Given the description of an element on the screen output the (x, y) to click on. 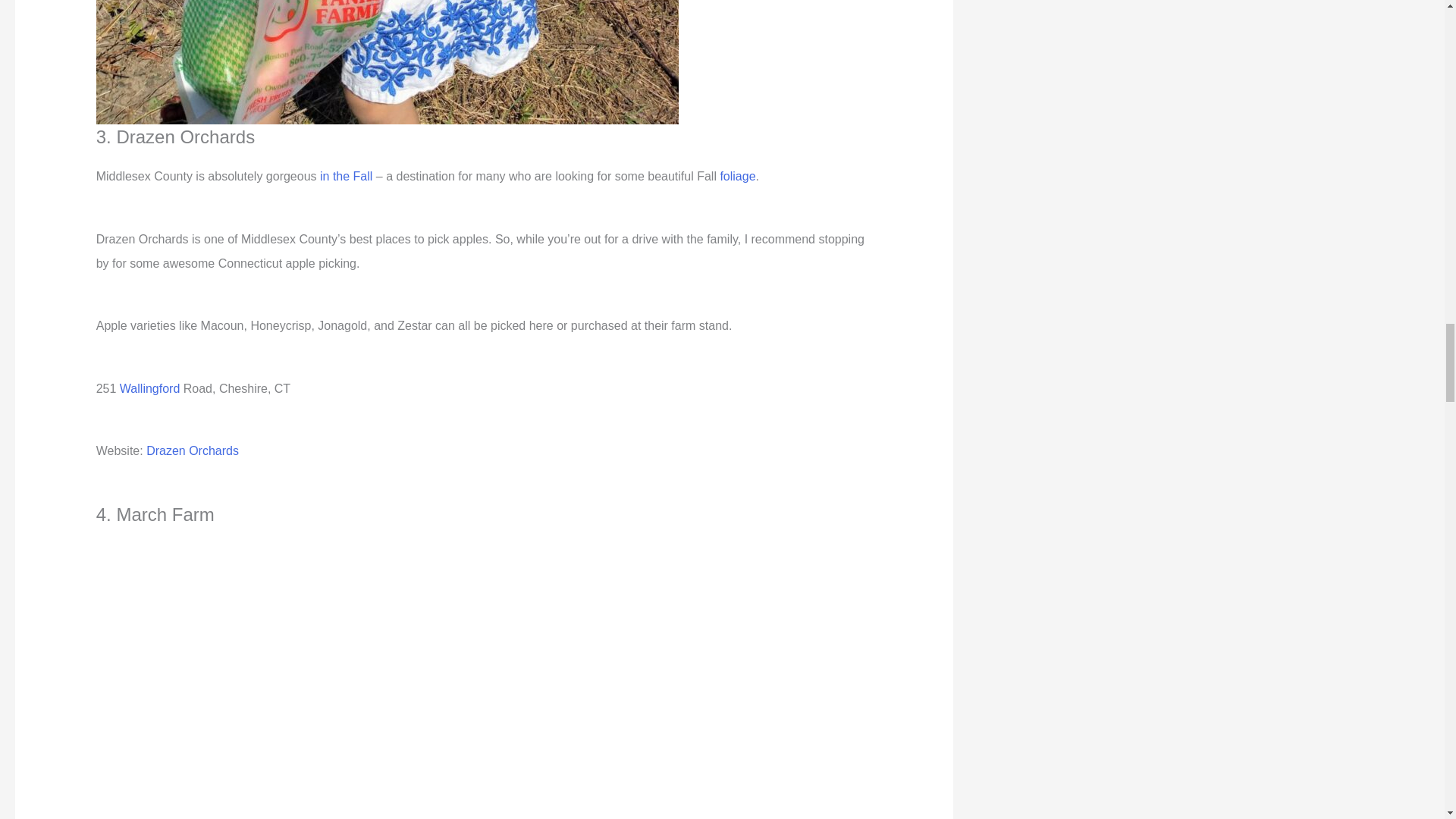
in the Fall (346, 175)
foliage (737, 175)
Wallingford (149, 388)
Drazen Orchards (192, 450)
